Given the description of an element on the screen output the (x, y) to click on. 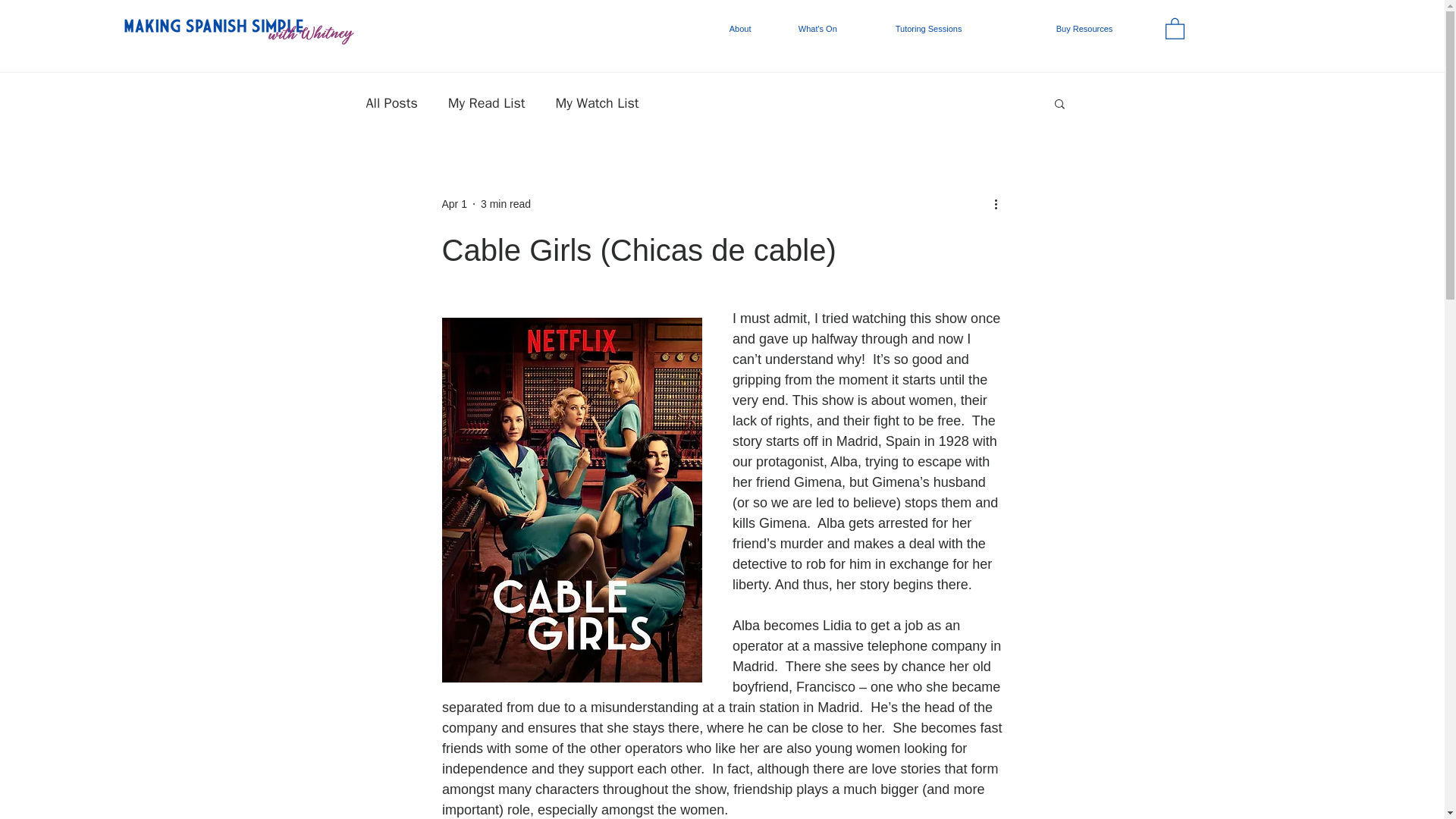
Apr 1 (453, 203)
About (752, 29)
All Posts (390, 103)
Tutoring Sessions (964, 29)
What's On (835, 29)
My Watch List (597, 103)
My Read List (486, 103)
Buy Resources (1109, 29)
3 min read (505, 203)
